Given the description of an element on the screen output the (x, y) to click on. 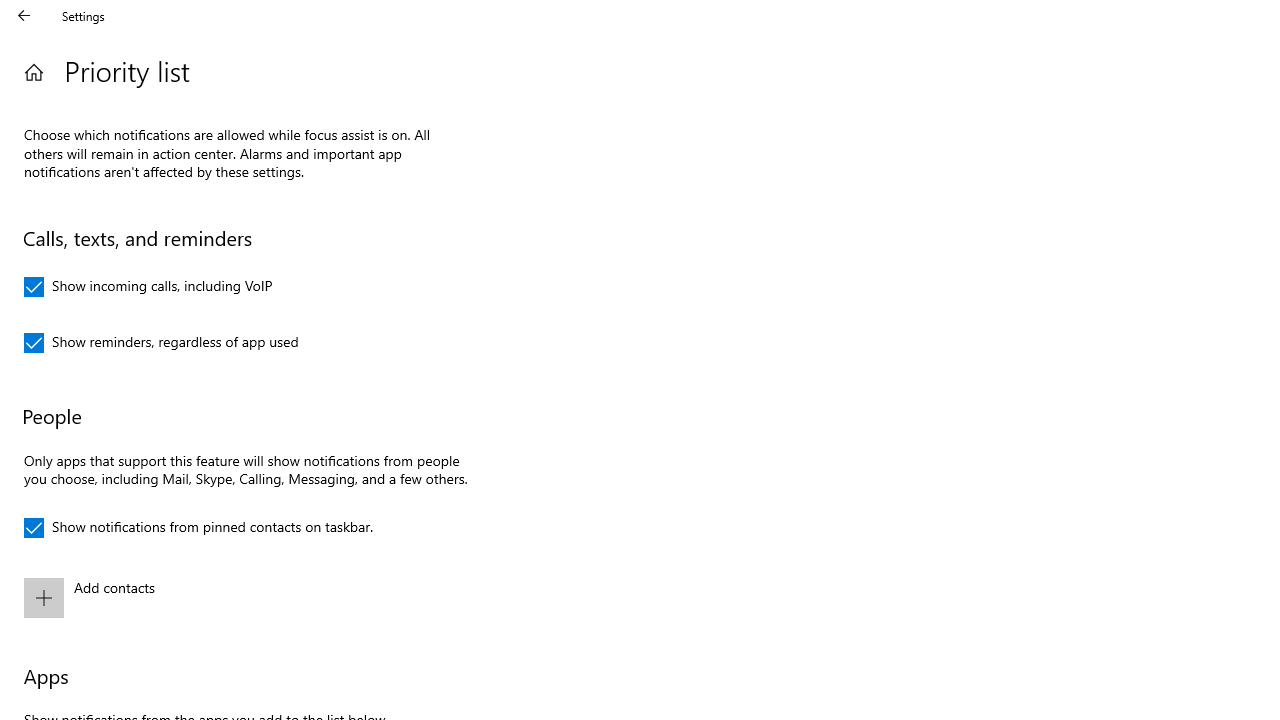
Back (24, 15)
Show reminders, regardless of app used (161, 342)
Add contacts (243, 597)
Home (33, 71)
Show incoming calls, including VoIP (148, 286)
Show notifications from pinned contacts on taskbar. (198, 527)
